Given the description of an element on the screen output the (x, y) to click on. 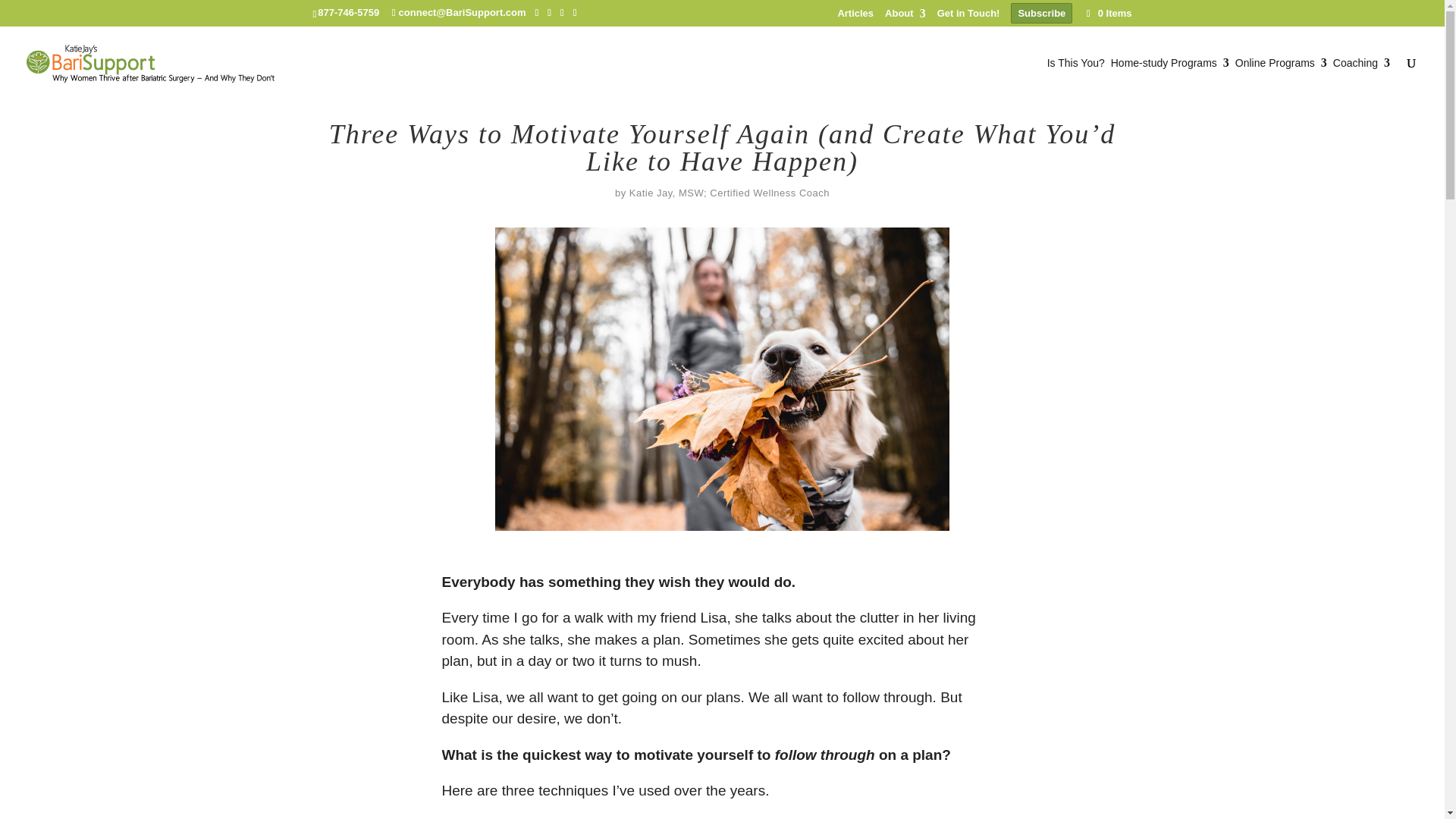
Coaching (1361, 78)
Is This You? (1075, 78)
Get in Touch! (968, 16)
Posts by Katie Jay, MSW; Certified Wellness Coach (728, 193)
Subscribe (1040, 13)
Online Programs (1280, 78)
Home-study Programs (1169, 78)
Articles (855, 16)
About (905, 16)
0 Items (1107, 12)
